Given the description of an element on the screen output the (x, y) to click on. 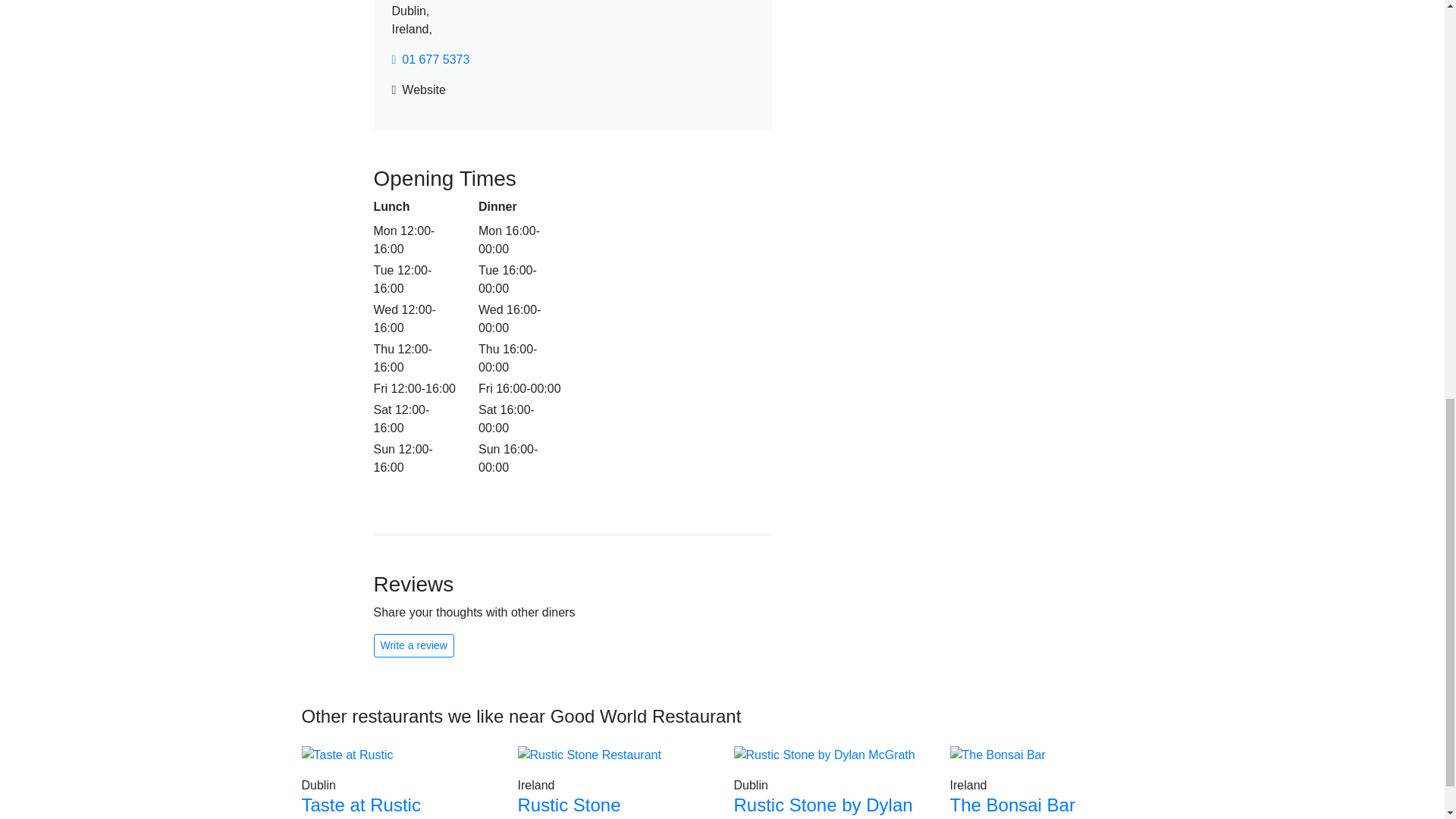
Taste at Rustic (360, 804)
Write a review (412, 645)
Rustic Stone Restaurant (568, 806)
Website (418, 90)
01 677 5373 (1046, 782)
